Given the description of an element on the screen output the (x, y) to click on. 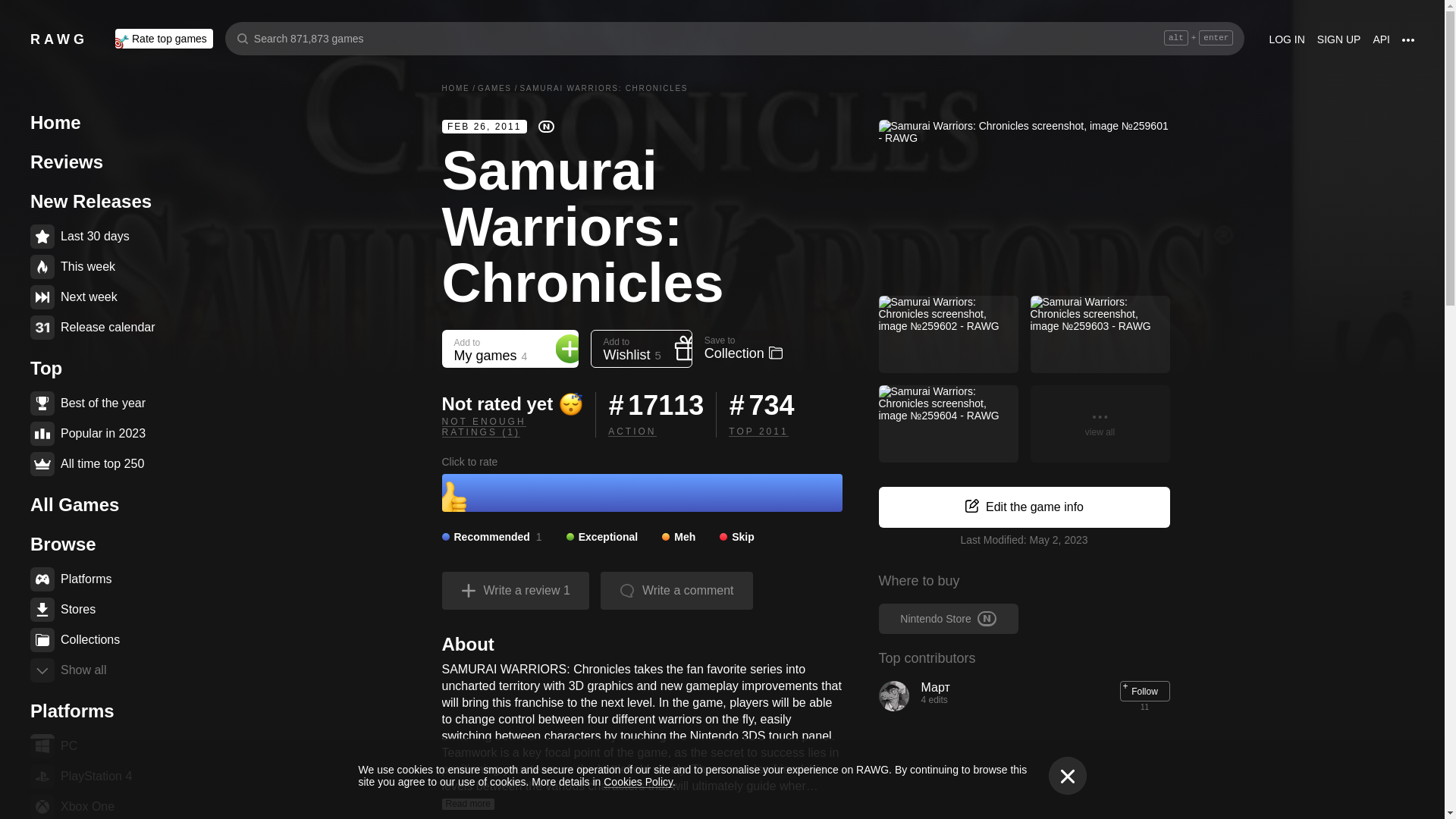
Cookies Policy (638, 781)
This week (106, 266)
Reviews (106, 161)
Stores (106, 609)
LOG IN (1286, 41)
Platforms (106, 579)
Best of the year (106, 403)
Last 30 days (106, 236)
recommended (490, 536)
Next week (106, 297)
